Given the description of an element on the screen output the (x, y) to click on. 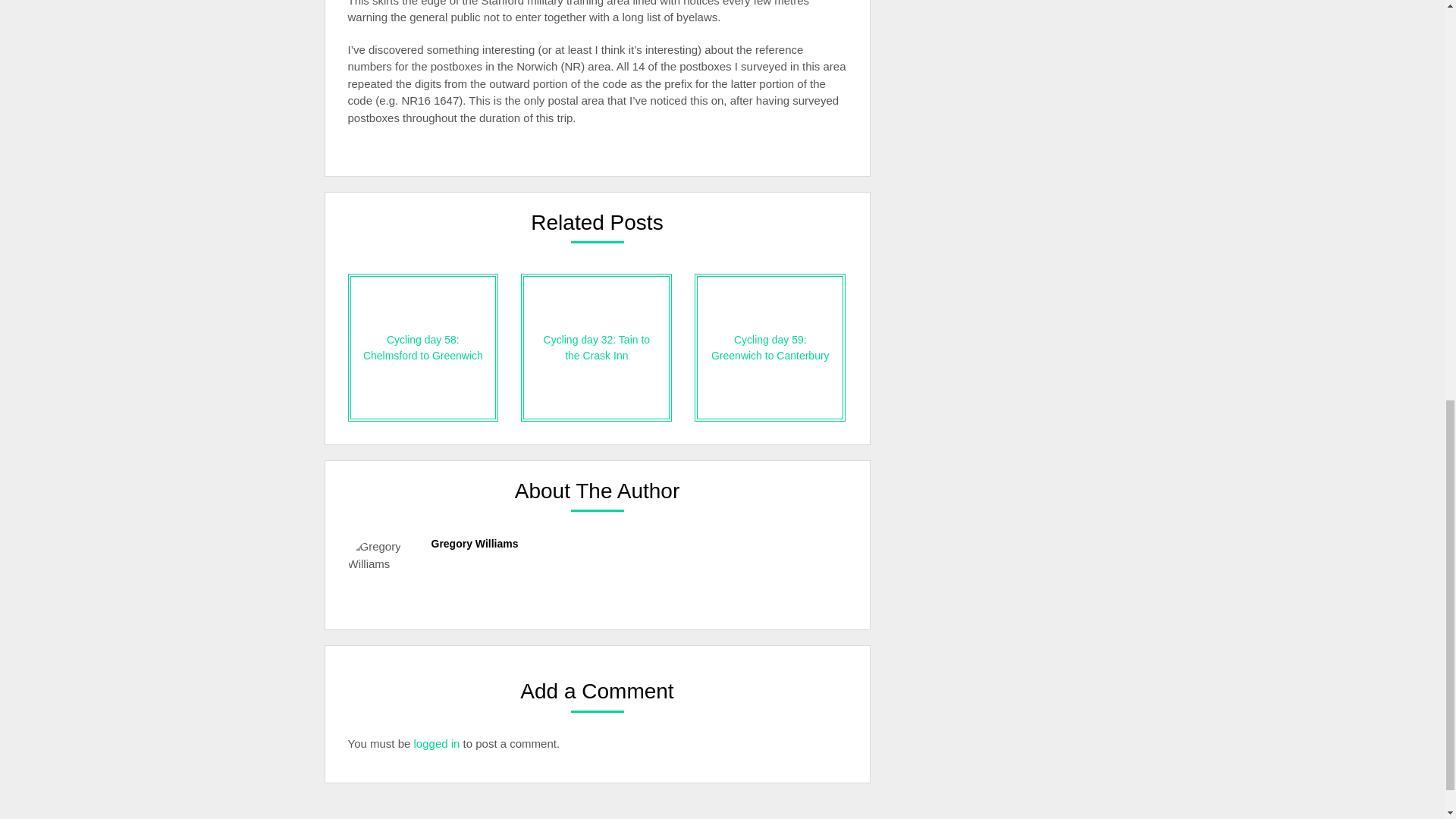
Cycling day 58: Chelmsford to Greenwich (422, 347)
logged in (436, 743)
Cycling day 32: Tain to the Crask Inn (596, 347)
Cycling day 32: Tain to the Crask Inn (596, 347)
Cycling day 58: Chelmsford to Greenwich (422, 347)
Cycling day 59: Greenwich to Canterbury (769, 347)
Cycling day 59: Greenwich to Canterbury (769, 347)
